Given the description of an element on the screen output the (x, y) to click on. 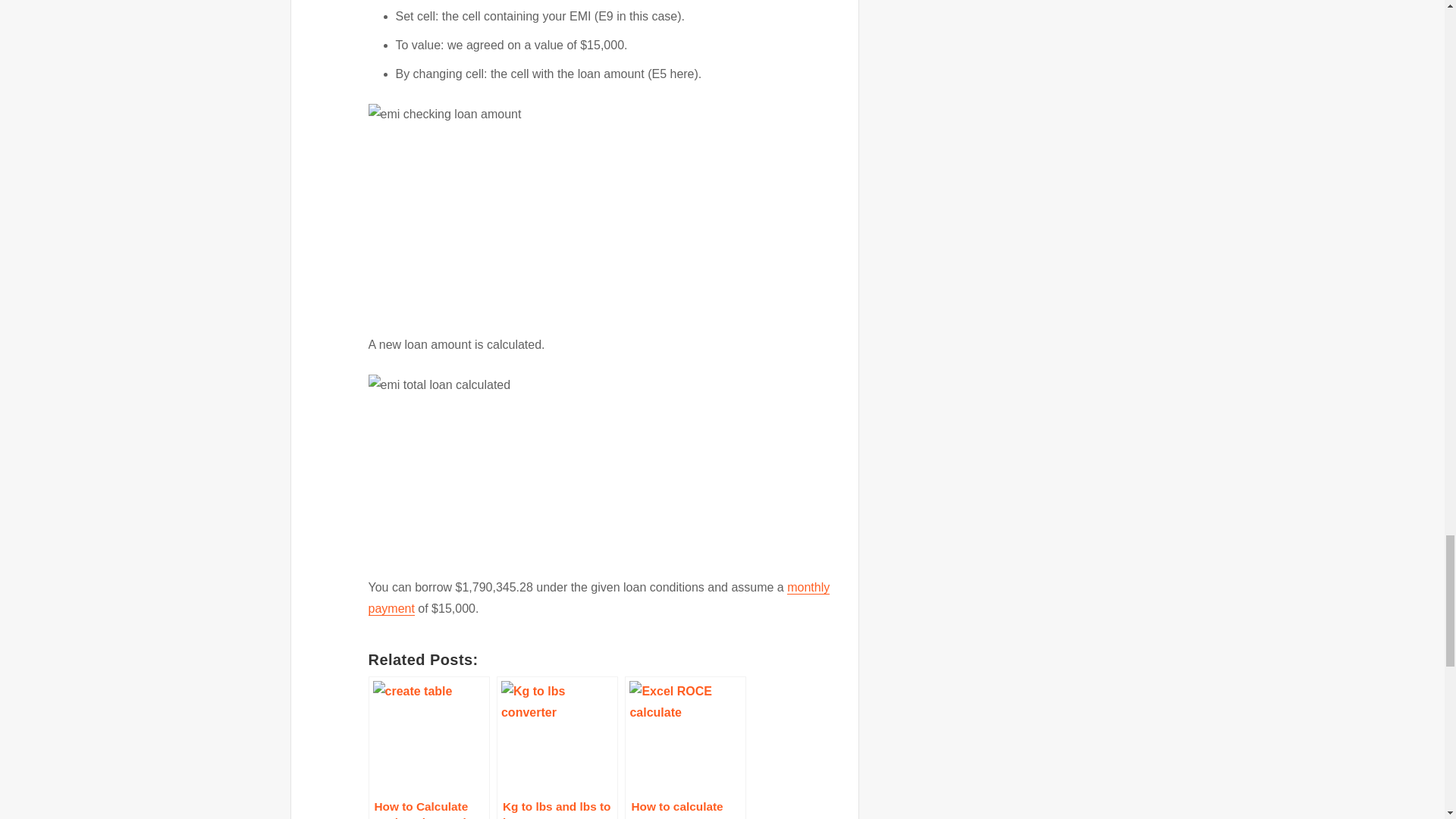
monthly payment (598, 597)
